Given the description of an element on the screen output the (x, y) to click on. 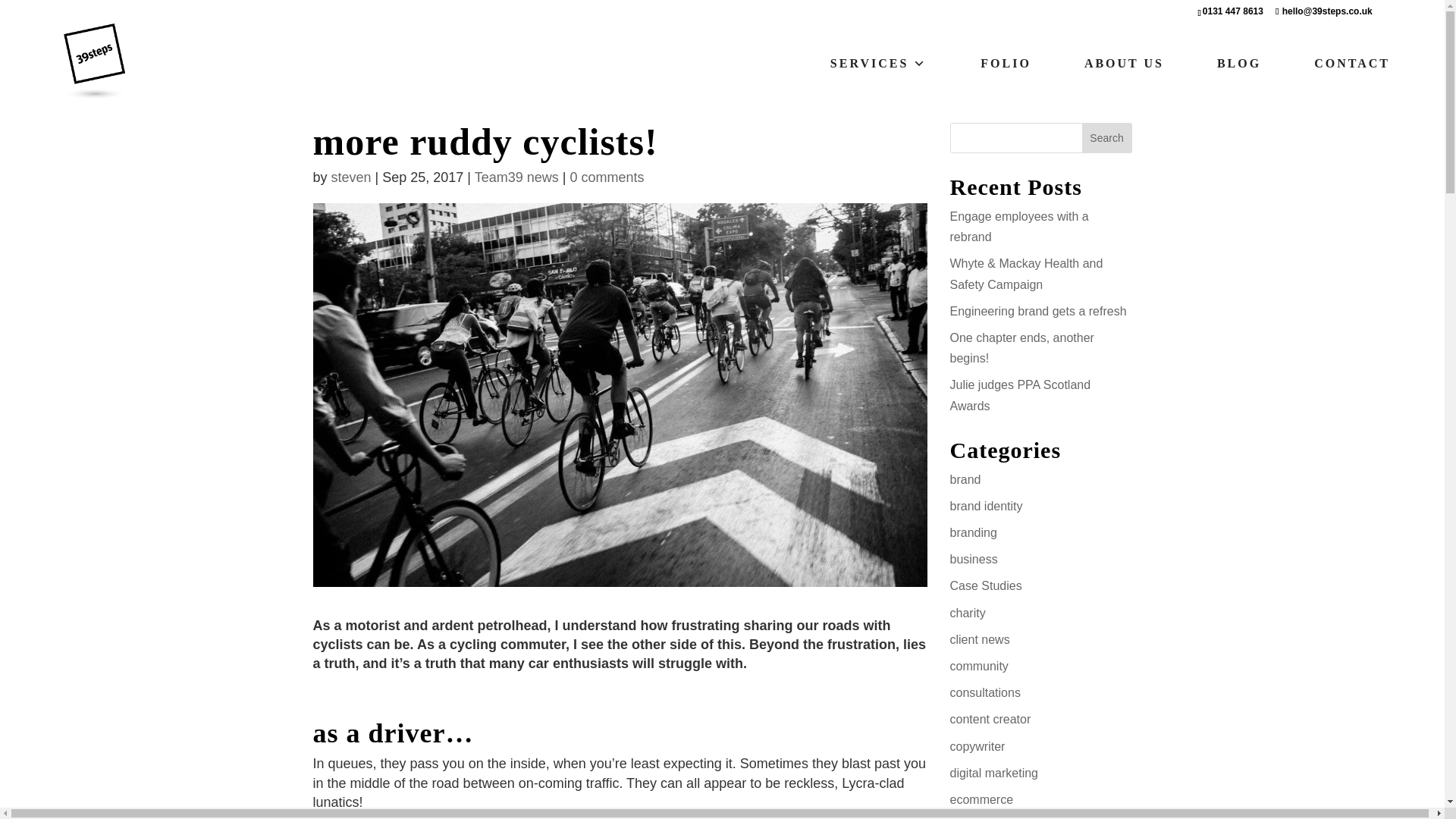
steven (351, 177)
Search (1106, 137)
Julie judges PPA Scotland Awards (1019, 394)
Search (1106, 137)
ABOUT US (1124, 63)
0 comments (606, 177)
Team39 news (516, 177)
brand (964, 479)
Engineering brand gets a refresh (1037, 310)
brand identity (985, 505)
CONTACT (1351, 63)
One chapter ends, another begins! (1021, 347)
FOLIO (1005, 63)
Case Studies (985, 585)
Engage employees with a rebrand (1018, 226)
